Given the description of an element on the screen output the (x, y) to click on. 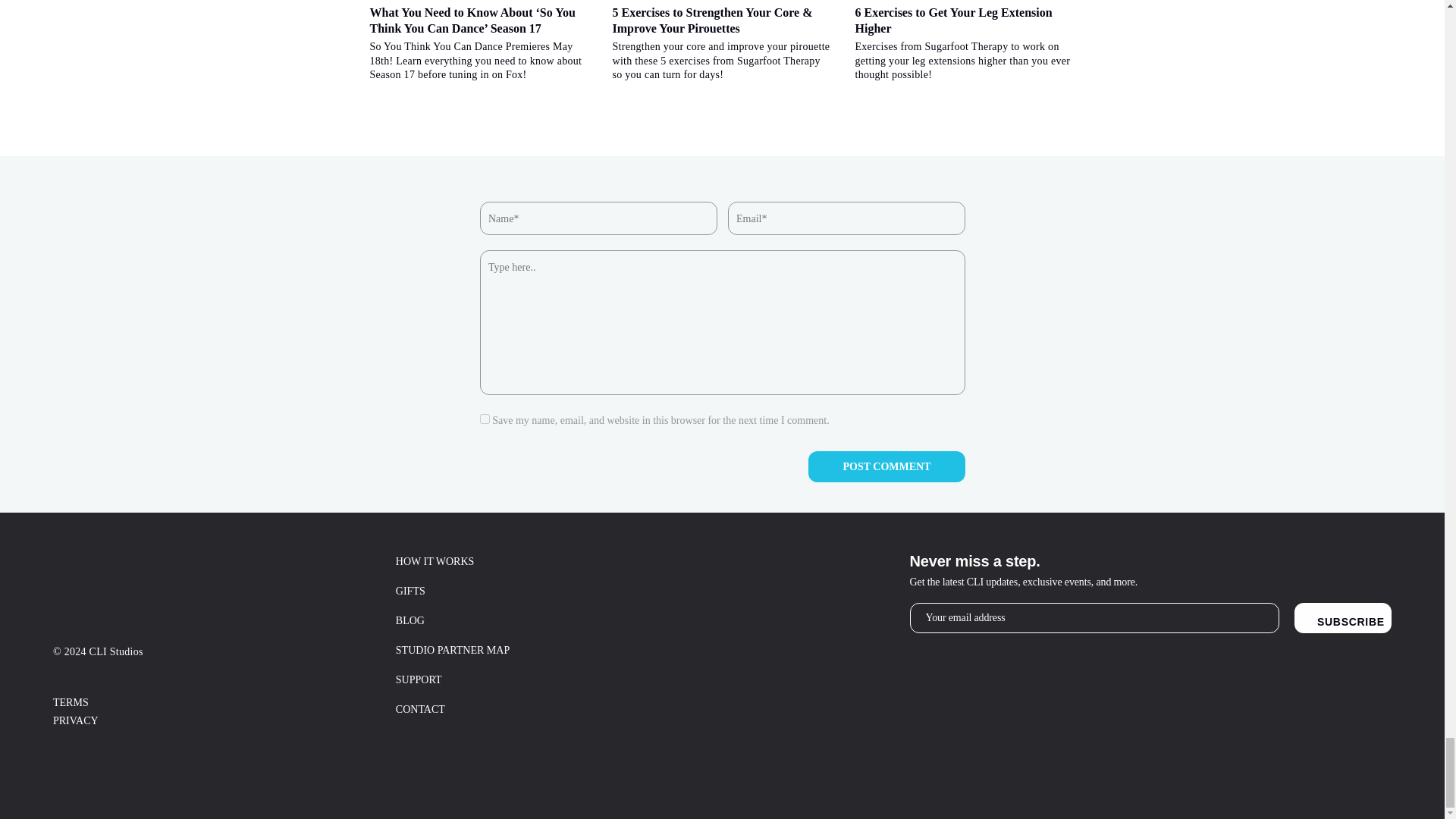
SUBSCRIBE (1342, 617)
yes (484, 419)
POST COMMENT (885, 466)
